Given the description of an element on the screen output the (x, y) to click on. 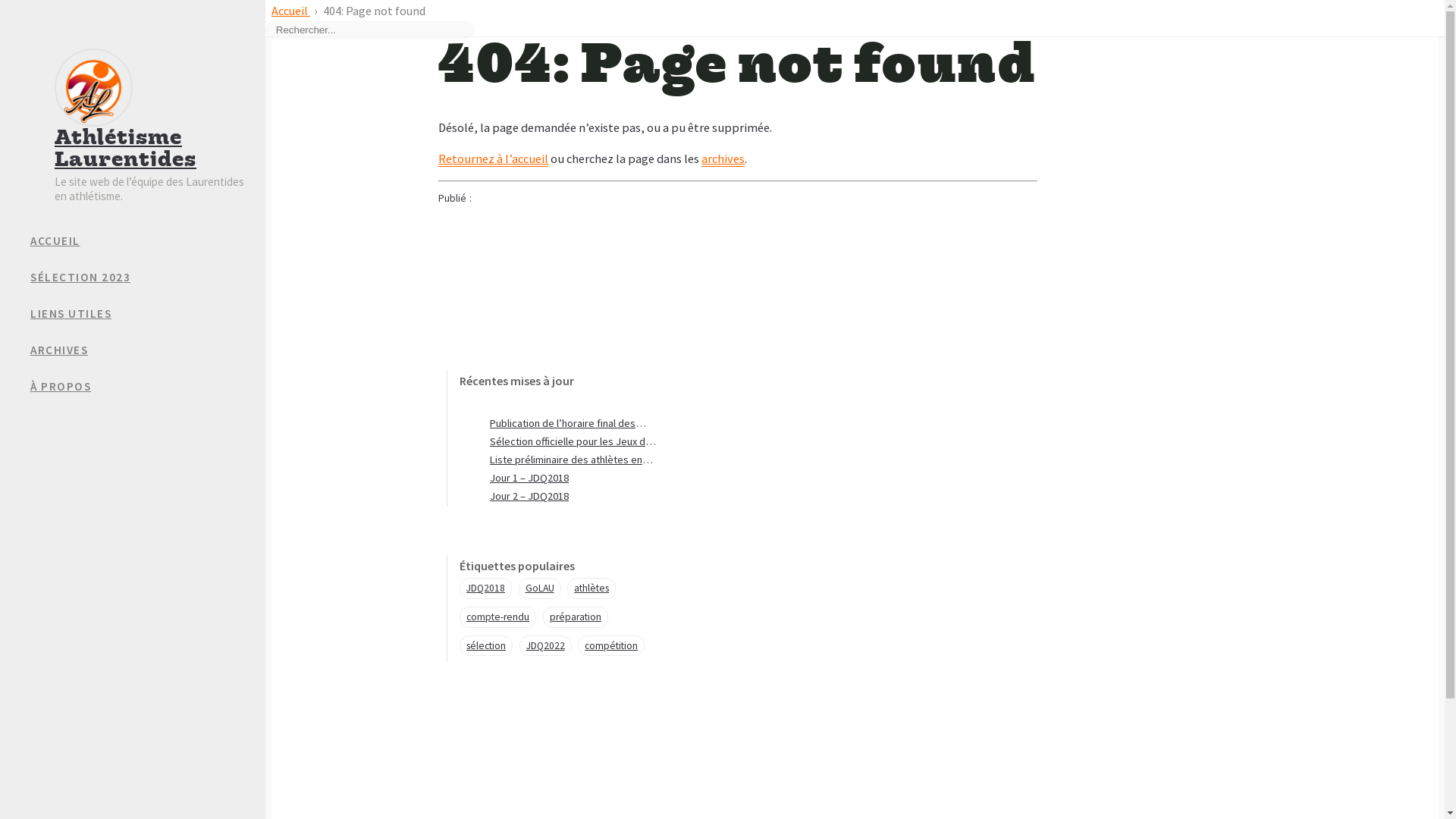
compte-rendu Element type: text (497, 616)
ACCUEIL Element type: text (147, 240)
GoLAU Element type: text (539, 588)
JDQ2018 Element type: text (485, 588)
JDQ2022 Element type: text (545, 645)
LIENS UTILES Element type: text (147, 313)
ARCHIVES Element type: text (147, 350)
Accueil Element type: text (290, 10)
archives Element type: text (722, 158)
